Given the description of an element on the screen output the (x, y) to click on. 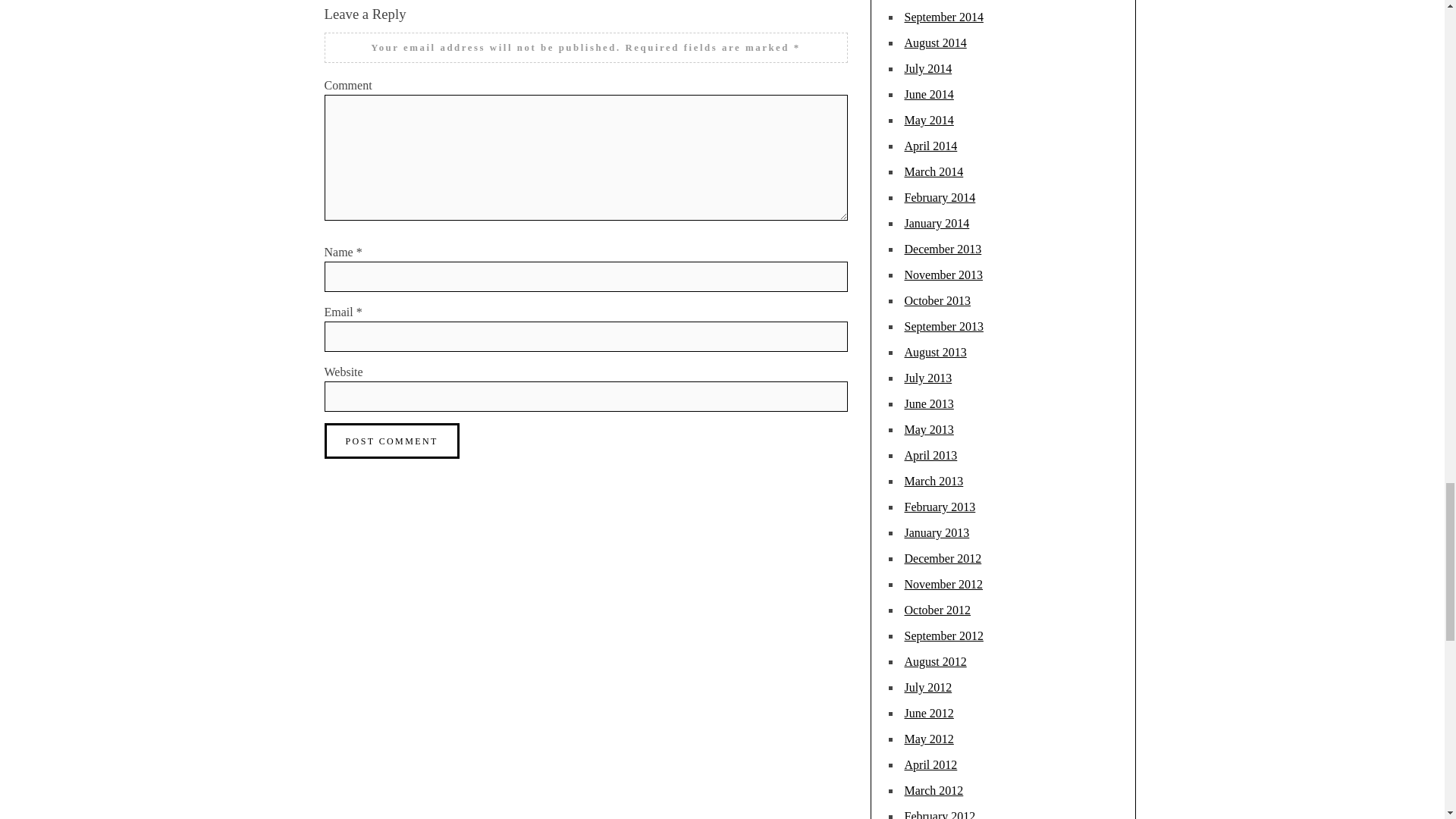
Post Comment (392, 440)
